Given the description of an element on the screen output the (x, y) to click on. 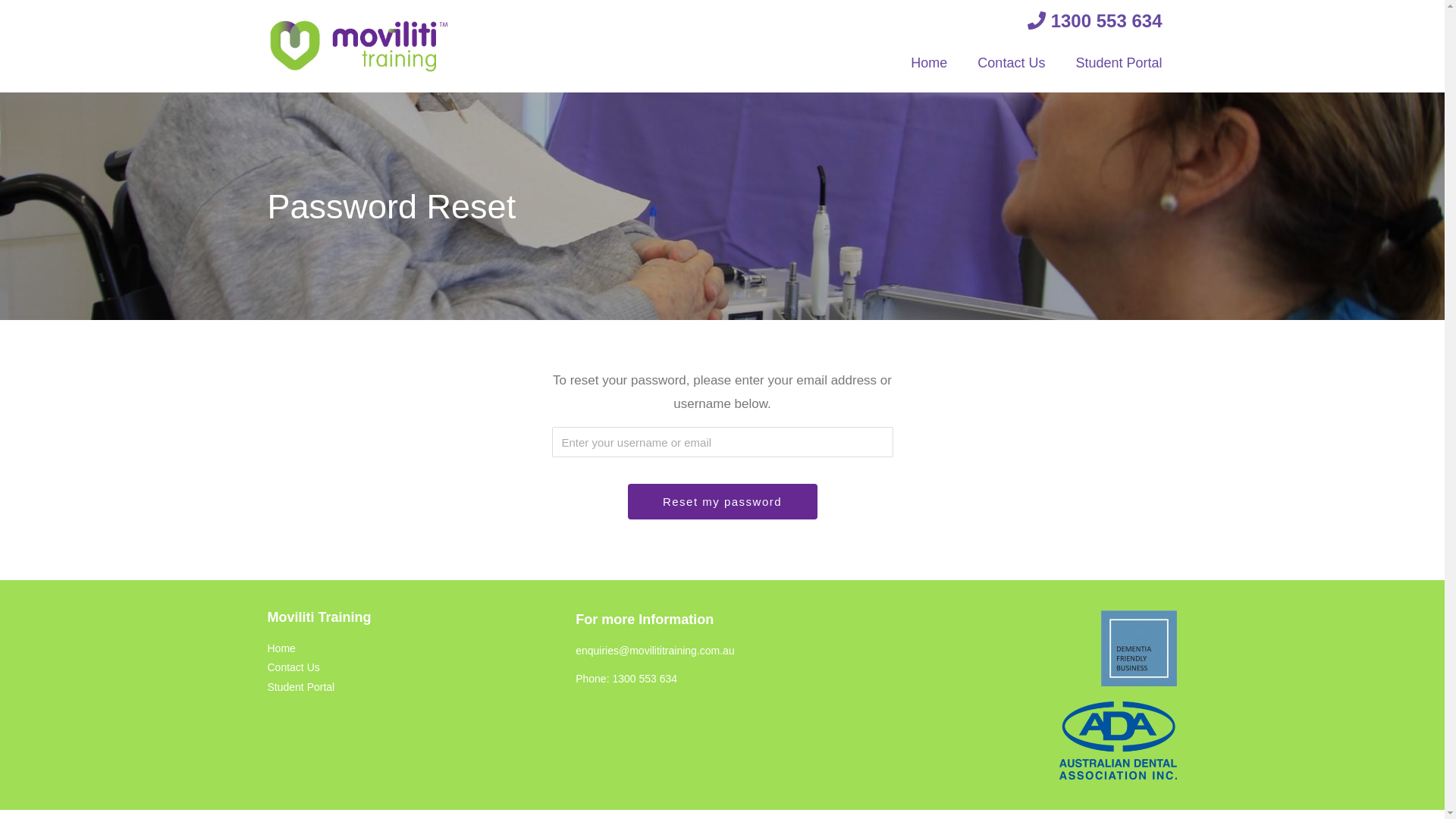
1300 553 634 Element type: text (1094, 20)
Contact Us Element type: text (292, 667)
Home Element type: text (928, 62)
1300 553 634 Element type: text (644, 678)
Reset my password Element type: text (722, 501)
Home Element type: text (280, 648)
Student Portal Element type: text (300, 686)
dementia-friendly_Artboard 1 Element type: hover (1138, 648)
Student Portal Element type: text (1118, 62)
Contact Us Element type: text (1011, 62)
enquiries@movilititraining.com.au Element type: text (654, 650)
